Given the description of an element on the screen output the (x, y) to click on. 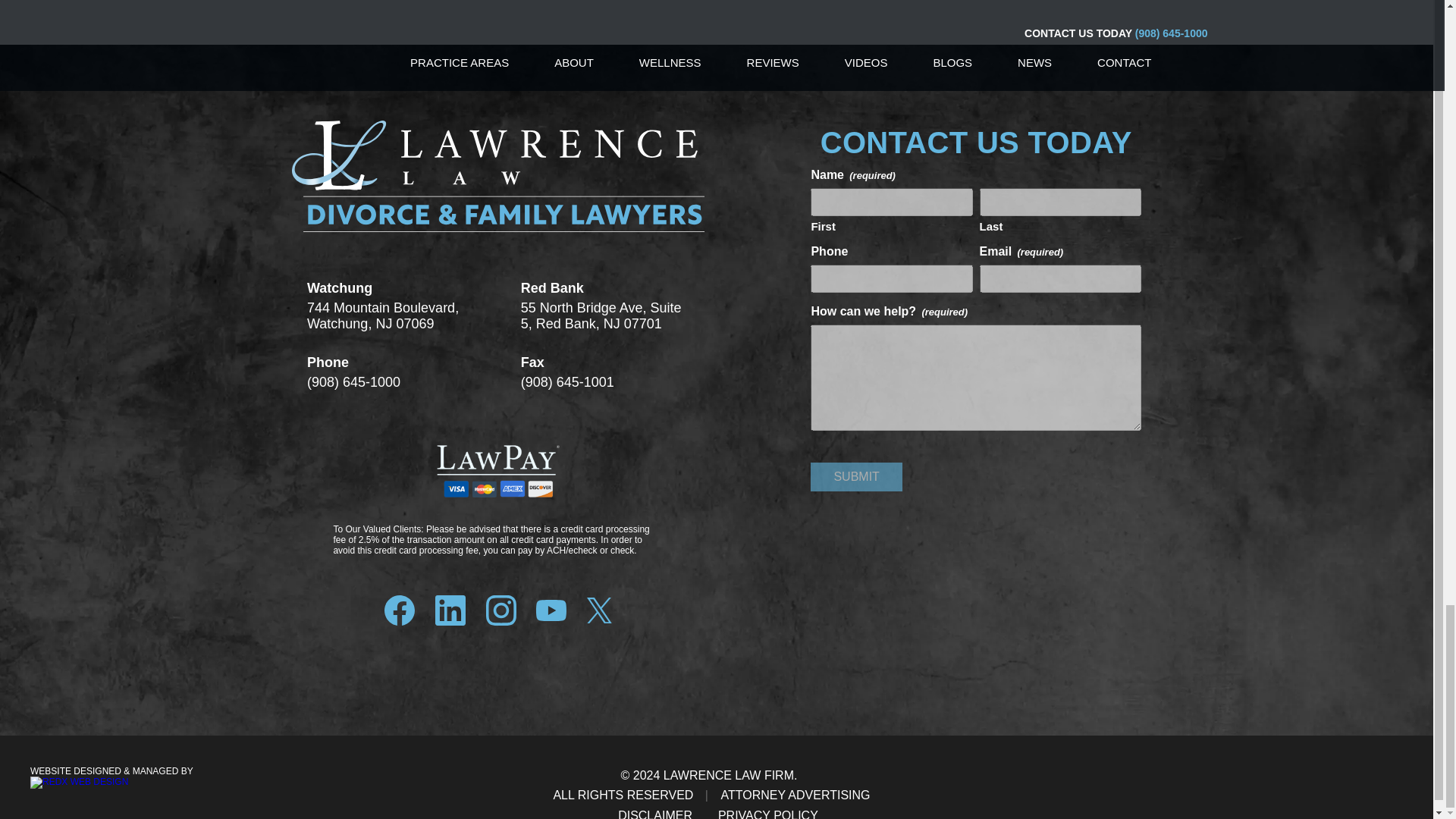
Submit (855, 476)
